Given the description of an element on the screen output the (x, y) to click on. 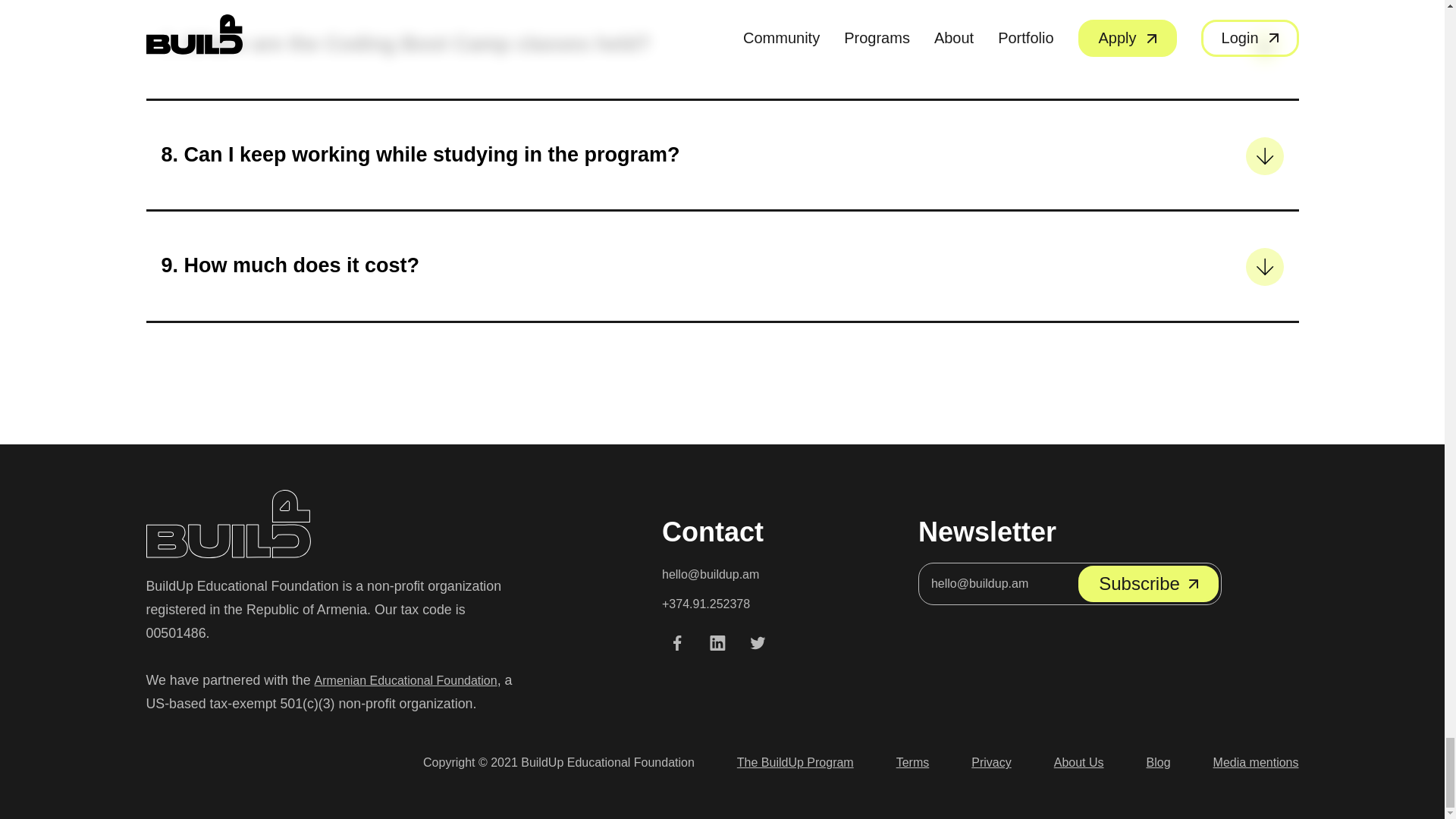
Armenian Educational Foundation (405, 680)
Subscribe (1148, 583)
Privacy (990, 762)
Terms (913, 762)
The BuildUp Program (794, 762)
Blog (1158, 762)
About Us (1078, 762)
Media mentions (1255, 762)
